Given the description of an element on the screen output the (x, y) to click on. 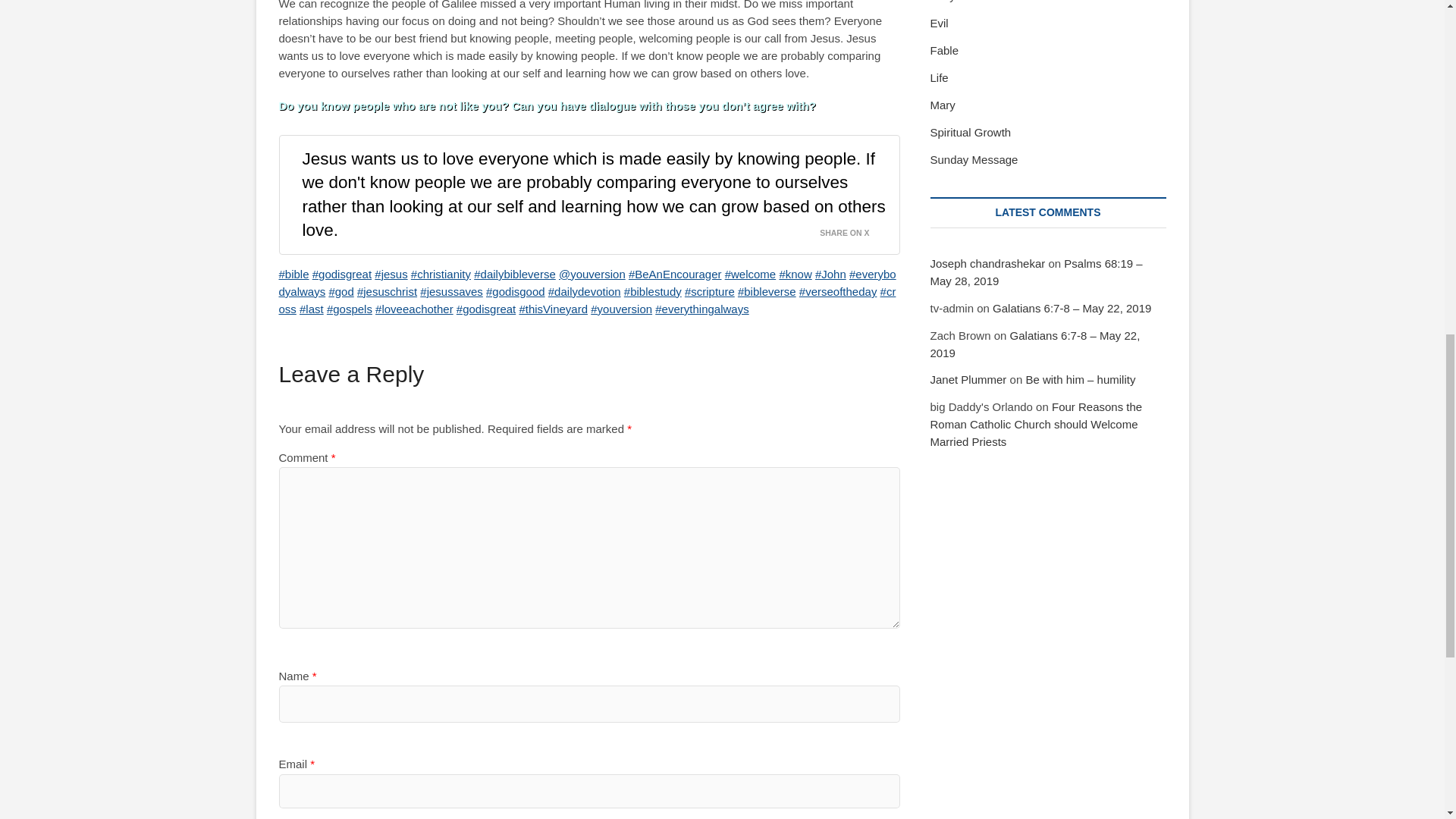
SHARE ON X (852, 228)
